Given the description of an element on the screen output the (x, y) to click on. 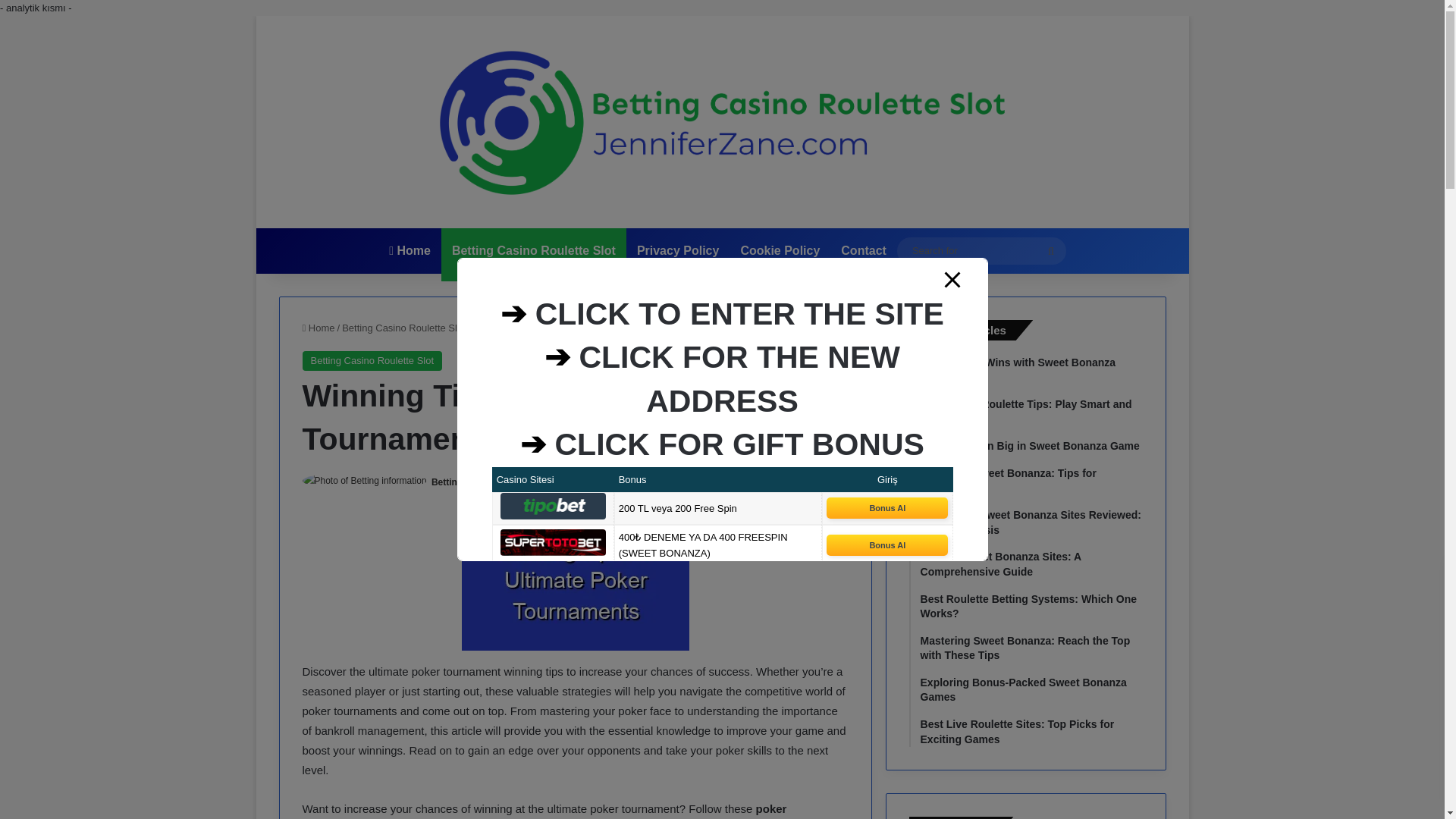
Betting Casino Roulette Slot (533, 250)
Contact (862, 250)
Privacy Policy (678, 250)
Winning Tips for Ultimate Poker Tournaments (574, 582)
Betting information (472, 481)
Home (409, 250)
Home (317, 327)
Betting information (472, 481)
Search for (1050, 250)
Betting Casino Roulette Slot (403, 327)
